Given the description of an element on the screen output the (x, y) to click on. 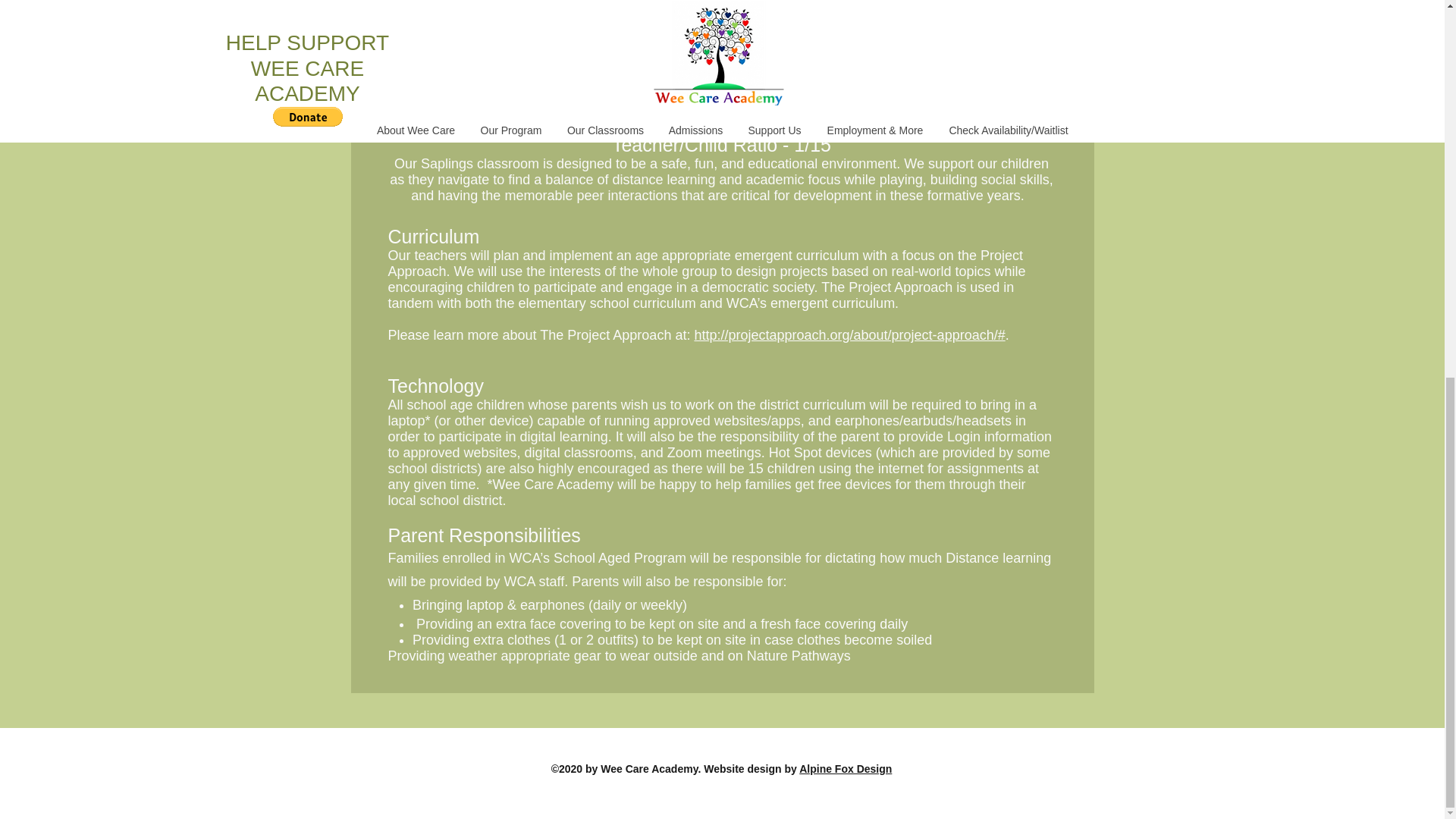
Click Here to Apply (722, 18)
Alpine Fox Design (845, 768)
